Given the description of an element on the screen output the (x, y) to click on. 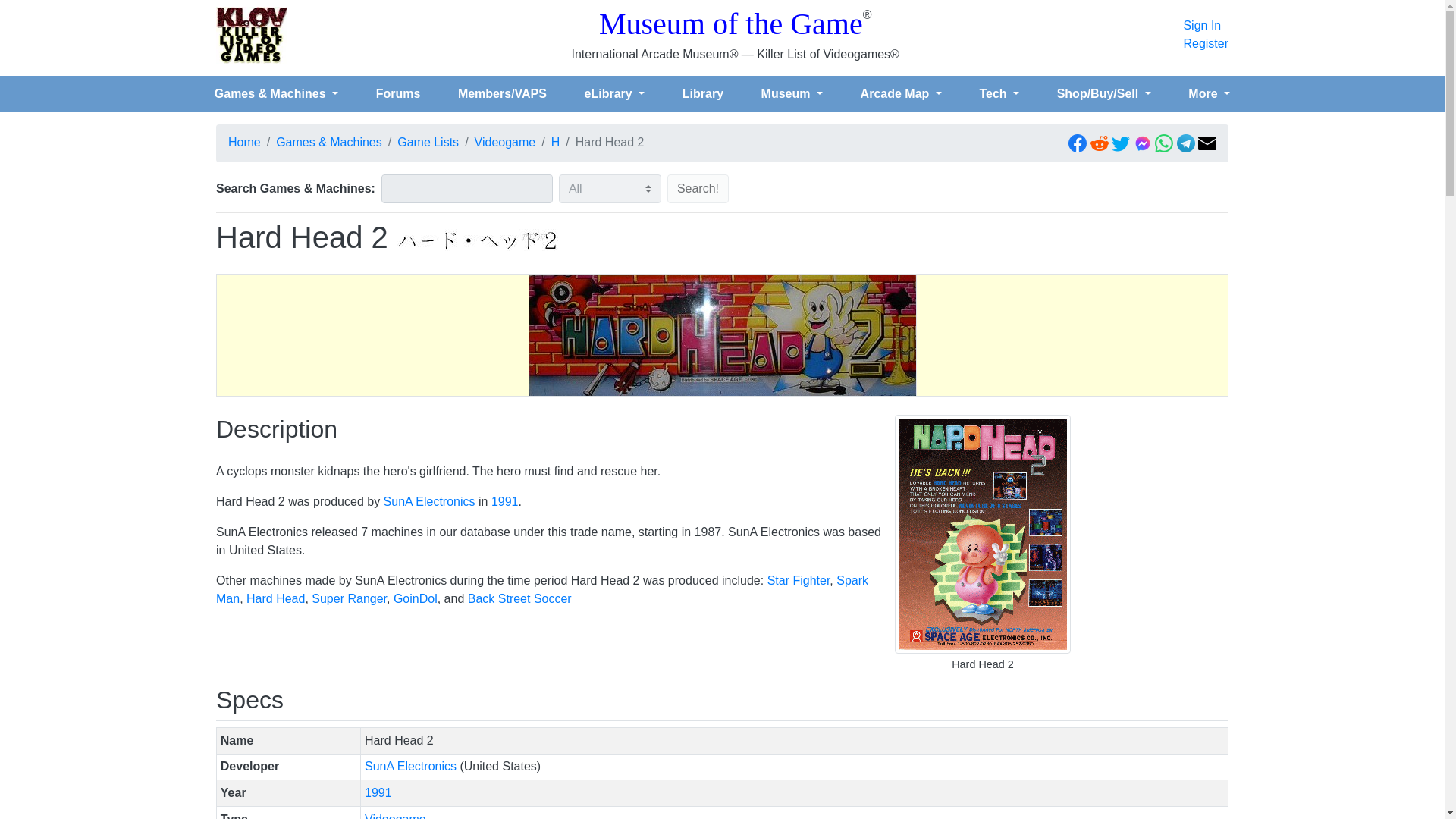
Register (1205, 44)
eLibrary (614, 93)
Sign In (1205, 25)
Forums (397, 93)
